Given the description of an element on the screen output the (x, y) to click on. 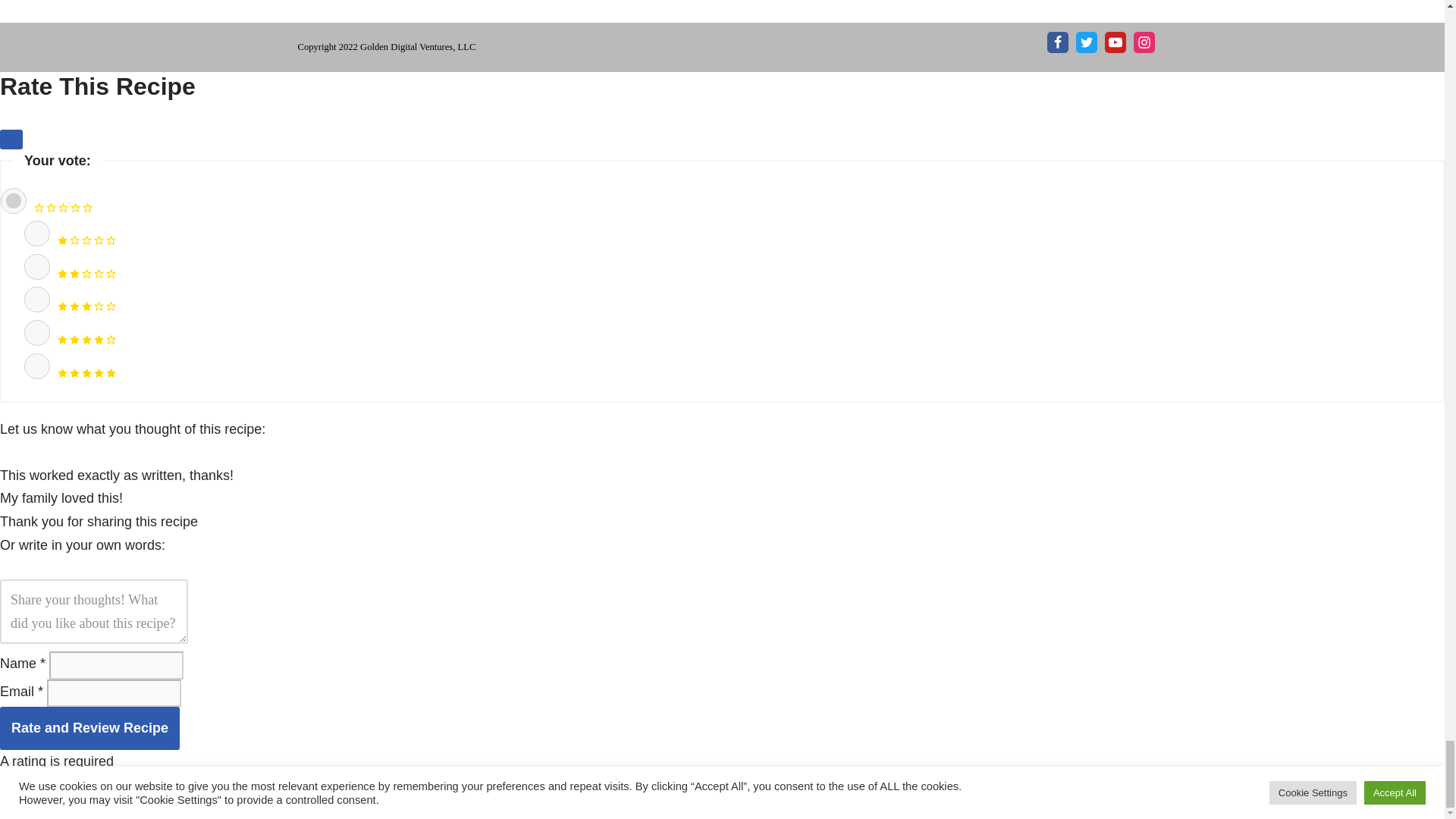
0 (13, 200)
5 (36, 365)
4 (36, 332)
1 (36, 233)
2 (36, 266)
3 (36, 299)
